Given the description of an element on the screen output the (x, y) to click on. 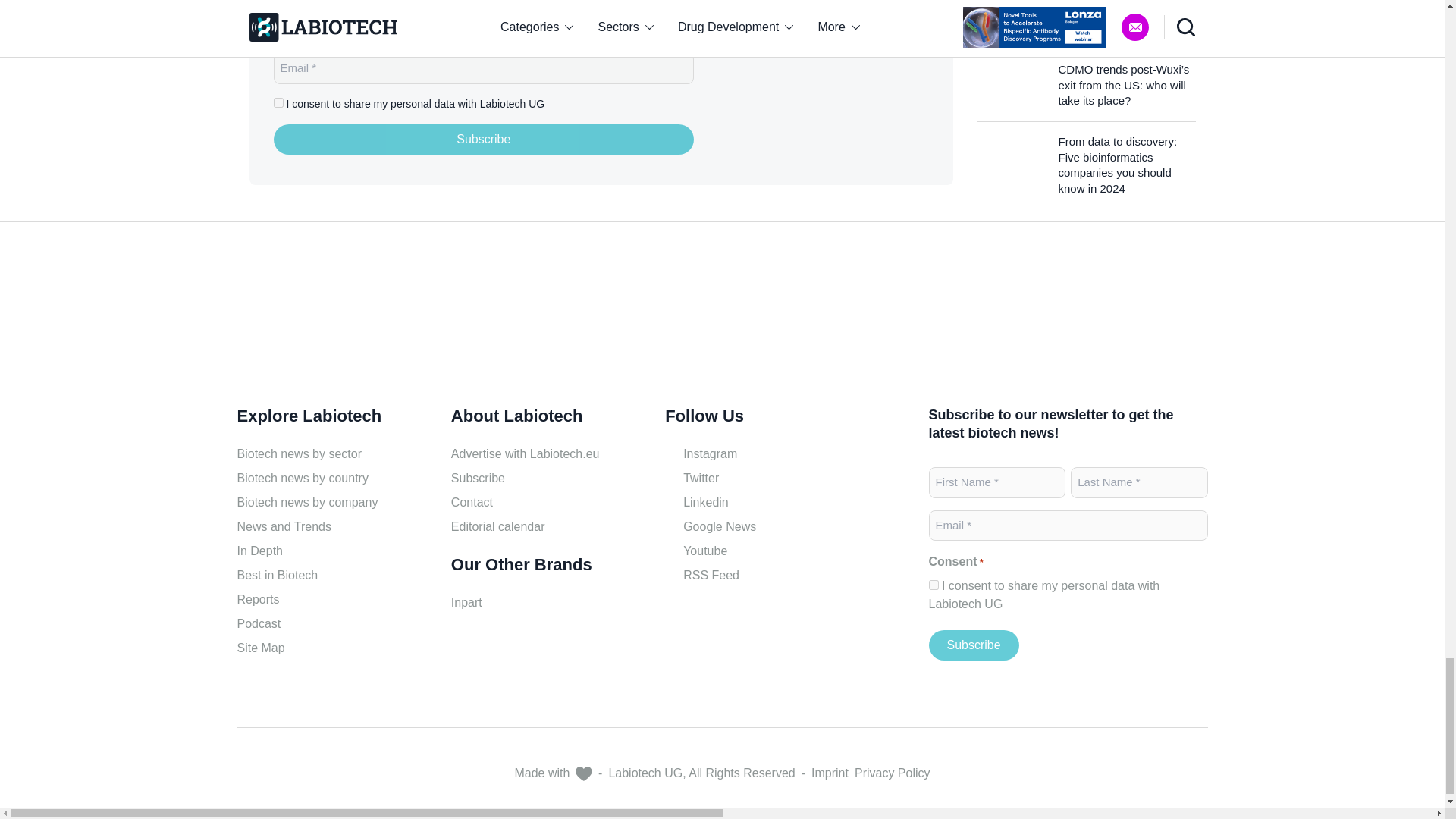
Subscribe (483, 139)
Subscribe (972, 644)
1 (932, 584)
Labiotech.eu (834, 92)
1 (277, 102)
Labiotech.eu (309, 320)
